Given the description of an element on the screen output the (x, y) to click on. 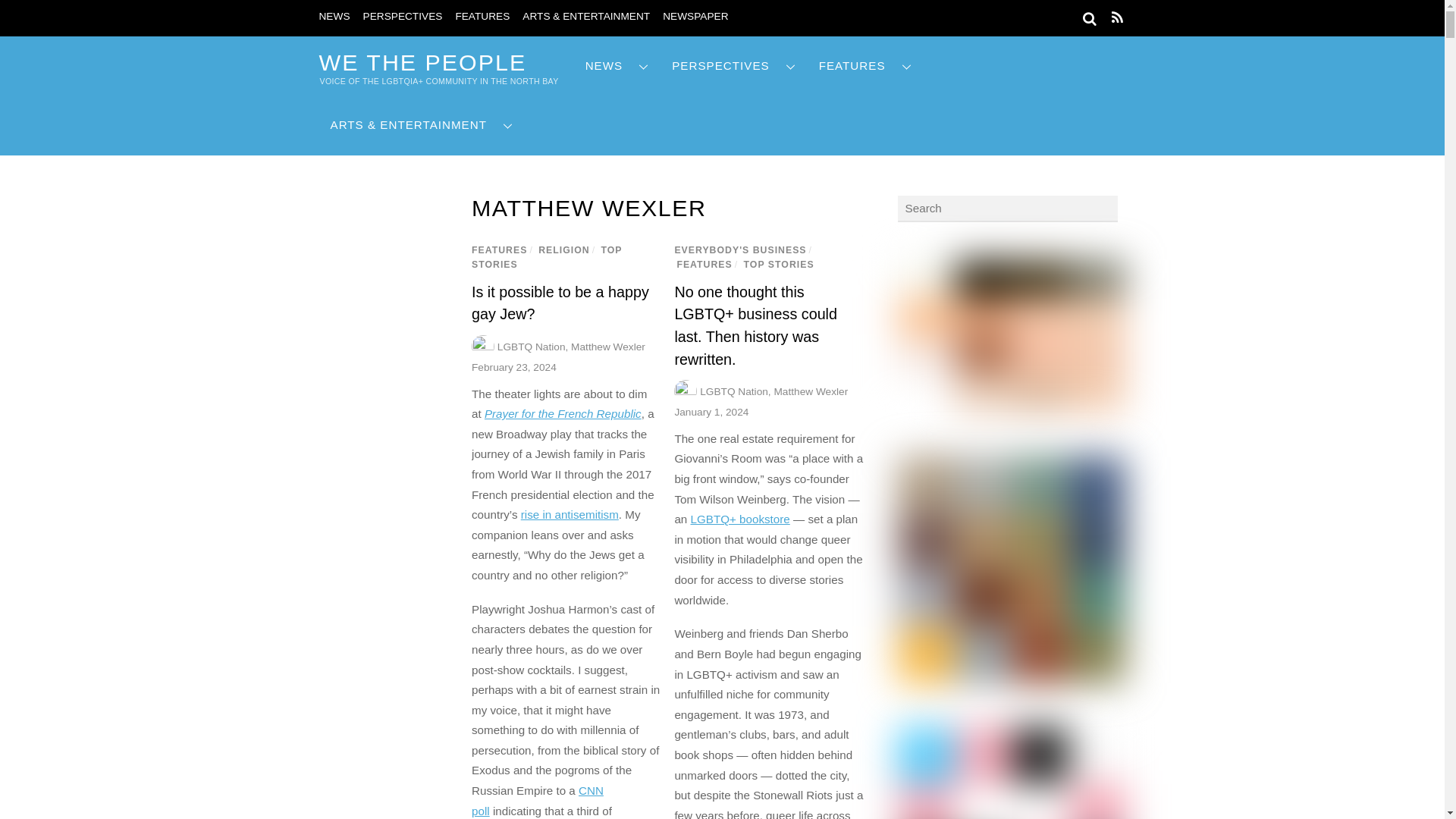
PERSPECTIVES (402, 16)
NEWS (333, 16)
WE THE PEOPLE (421, 62)
NEWS (617, 66)
NEWSPAPER (695, 16)
FEATURES (481, 16)
We The People (421, 62)
